Given the description of an element on the screen output the (x, y) to click on. 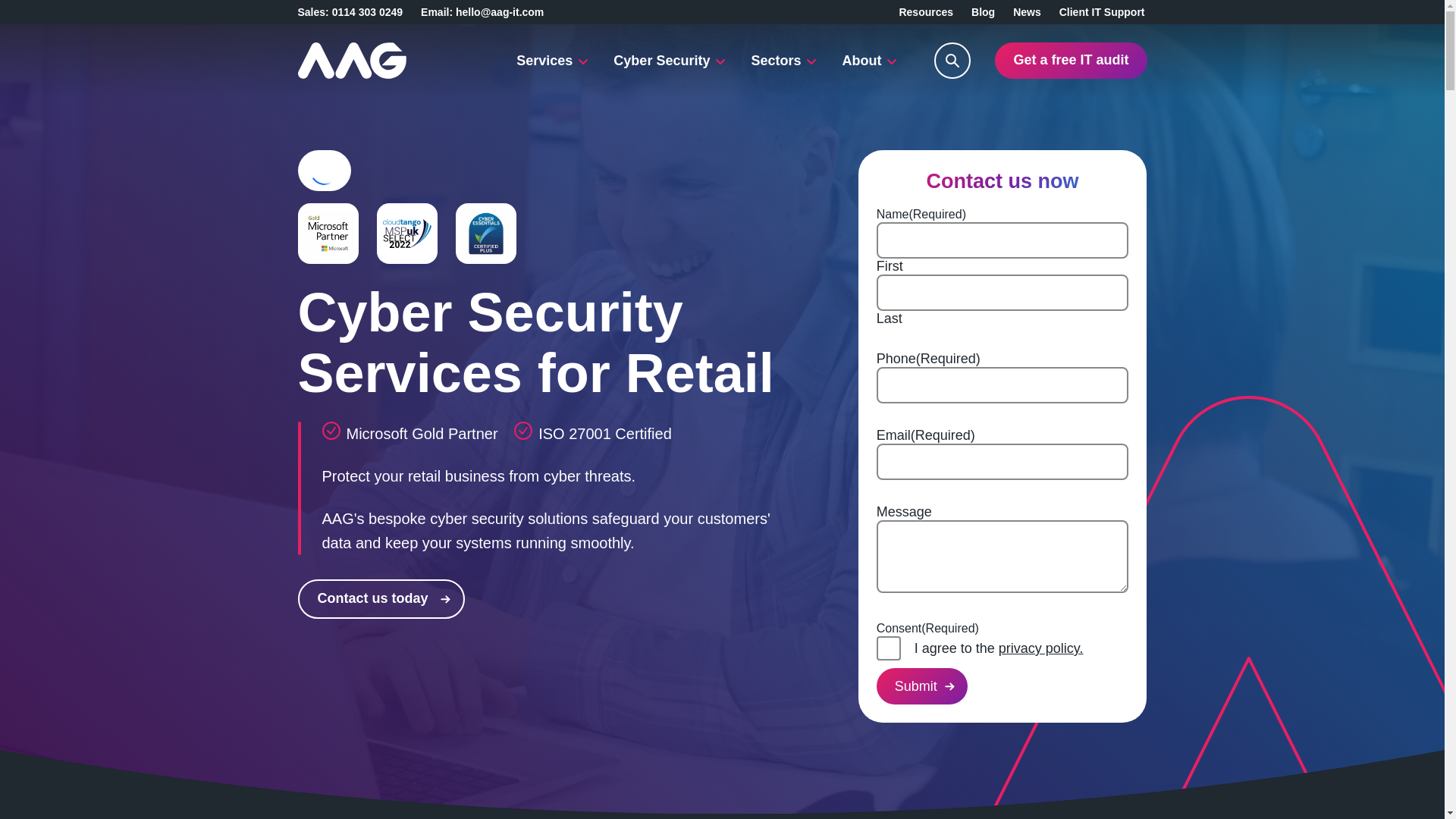
Services (552, 60)
Client IT Support (1101, 11)
Blog (982, 11)
0114 303 0249 (367, 11)
Cyber Essentials Plus logo (485, 233)
Google Review Widget (322, 170)
Resources (925, 11)
Submit (922, 686)
Cyber Security (669, 60)
News (1027, 11)
